Given the description of an element on the screen output the (x, y) to click on. 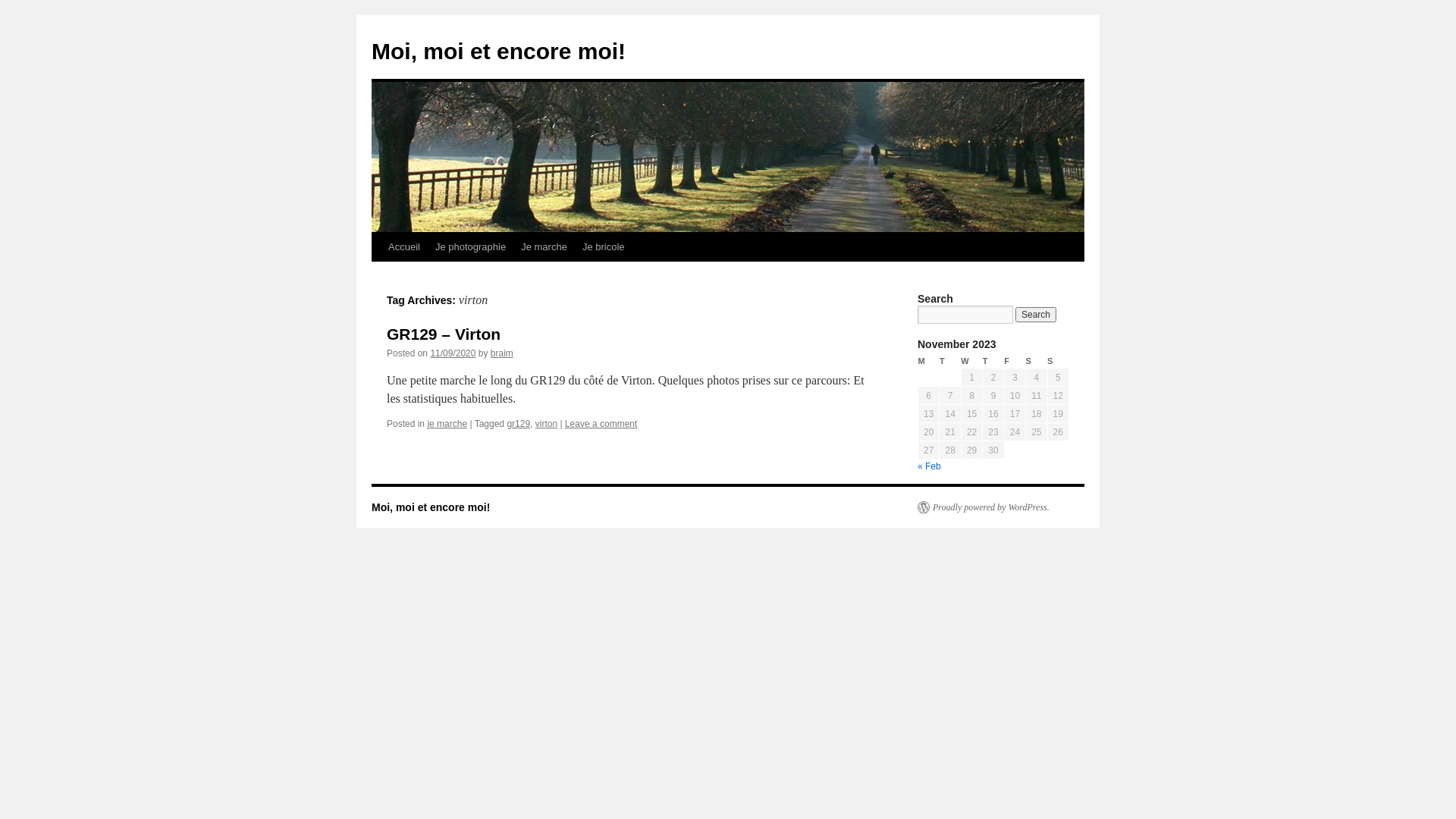
Proudly powered by WordPress. Element type: text (983, 507)
Moi, moi et encore moi! Element type: text (430, 507)
braim Element type: text (501, 353)
11/09/2020 Element type: text (452, 353)
gr129 Element type: text (518, 423)
Je marche Element type: text (543, 246)
Leave a comment Element type: text (600, 423)
Search Element type: text (1035, 314)
Accueil Element type: text (403, 246)
Skip to content Element type: text (377, 275)
Je photographie Element type: text (470, 246)
virton Element type: text (546, 423)
Moi, moi et encore moi! Element type: text (498, 50)
je marche Element type: text (446, 423)
Je bricole Element type: text (603, 246)
